Given the description of an element on the screen output the (x, y) to click on. 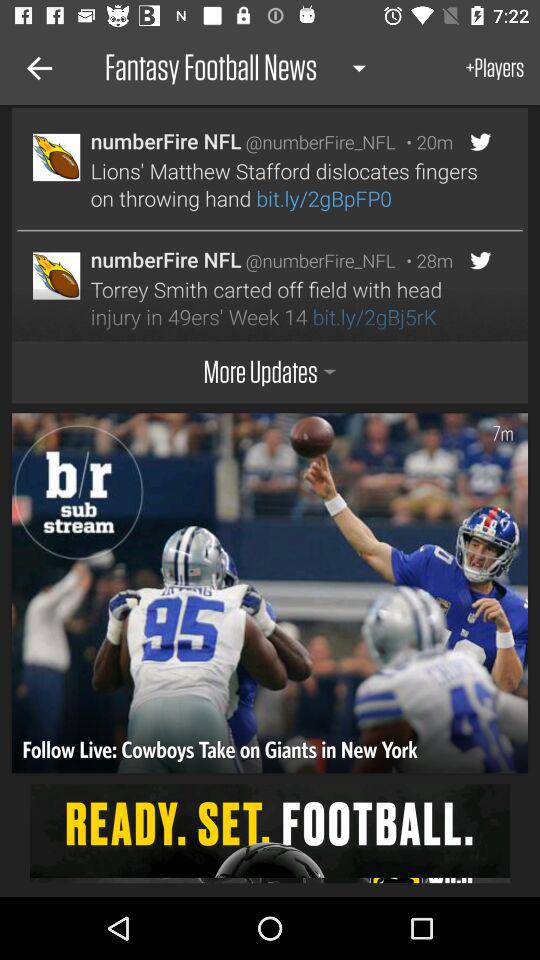
launch item above the more updates icon (261, 286)
